Given the description of an element on the screen output the (x, y) to click on. 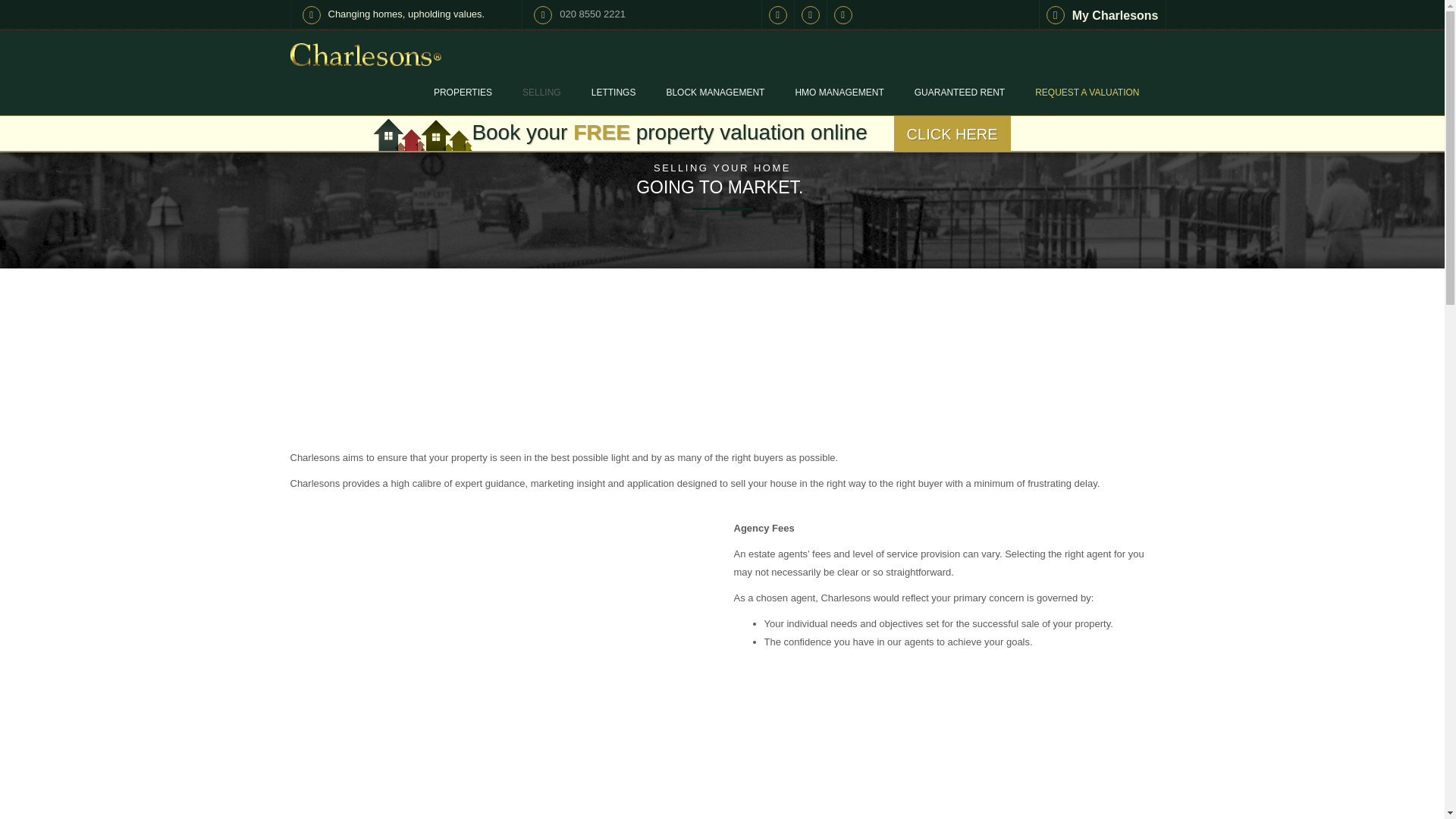
020 8550 2221 (592, 13)
Login (1102, 14)
SELLING (541, 92)
PROPERTIES (462, 92)
GUARANTEED RENT (959, 92)
Charlesons (365, 50)
LETTINGS (613, 92)
BLOCK MANAGEMENT (714, 92)
CLICK HERE (951, 127)
HMO MANAGEMENT (838, 92)
REQUEST A VALUATION (1087, 92)
